Given the description of an element on the screen output the (x, y) to click on. 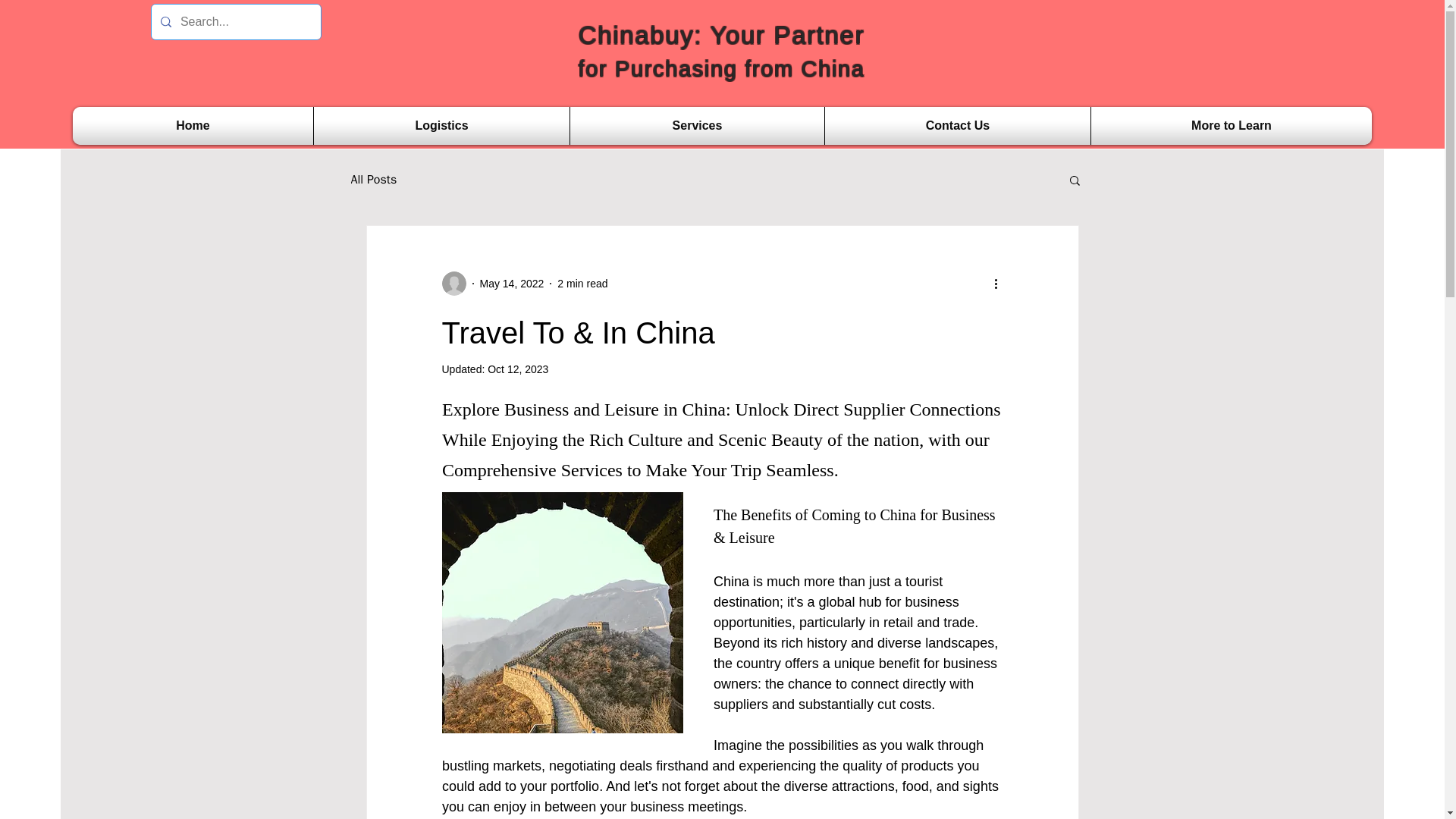
May 14, 2022 (511, 283)
All Posts (373, 179)
Services (697, 125)
2 min read (582, 283)
Logistics (441, 125)
More to Learn (1231, 125)
Contact Us (957, 125)
Oct 12, 2023 (517, 369)
Home (192, 125)
